Given the description of an element on the screen output the (x, y) to click on. 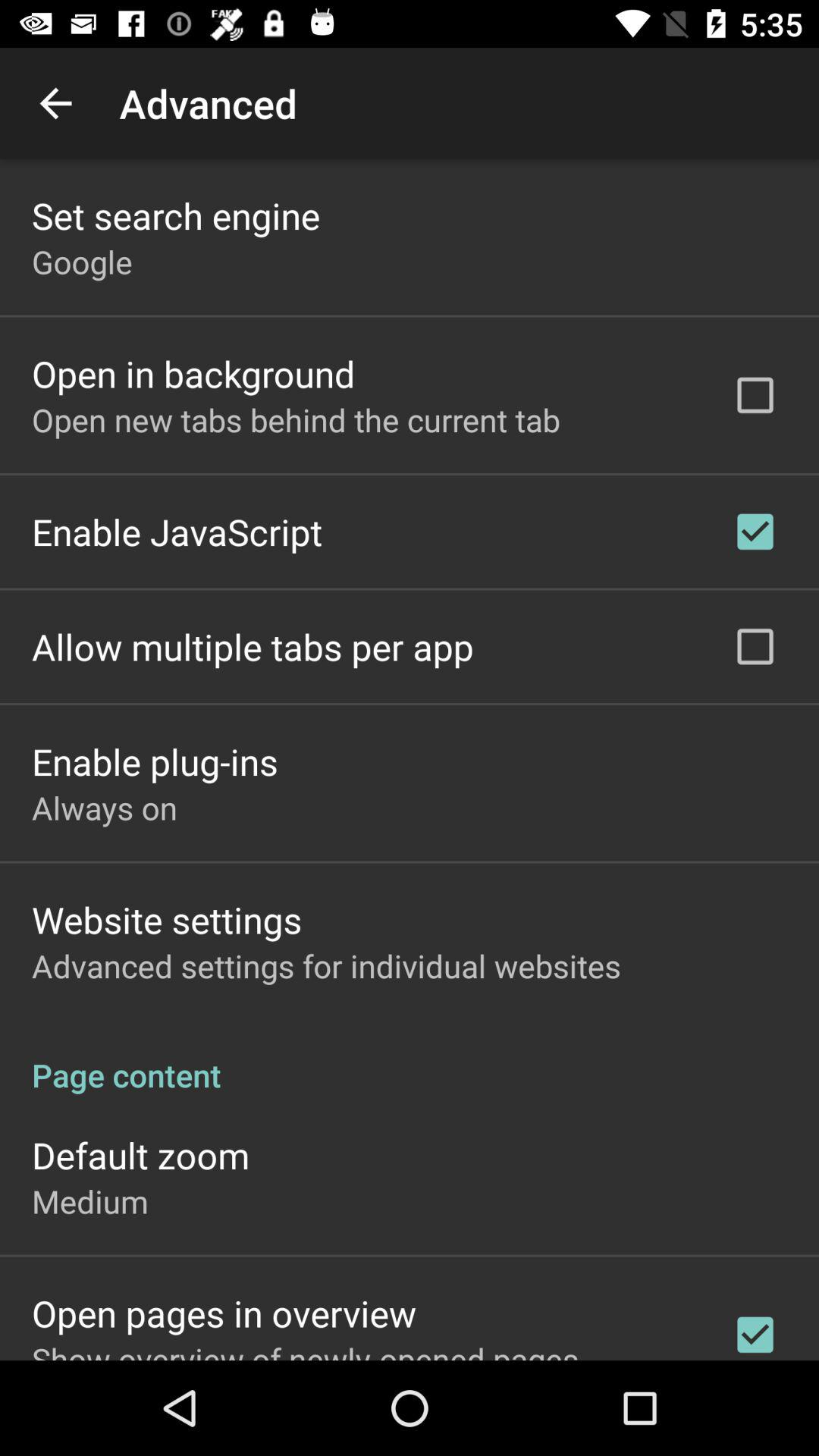
press the item above enable javascript (295, 419)
